Given the description of an element on the screen output the (x, y) to click on. 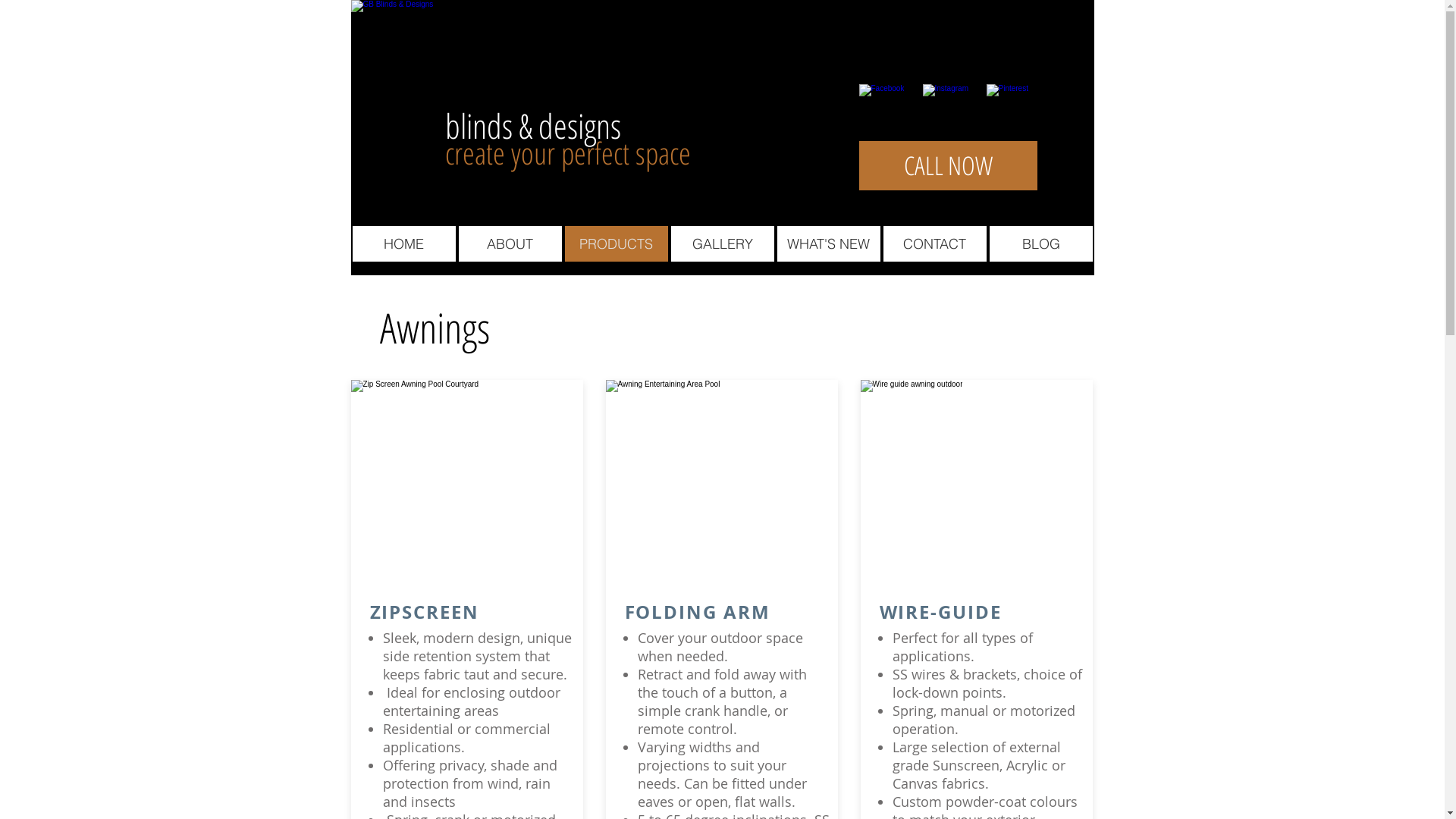
BLOG Element type: text (1040, 243)
Folding Arm Awning Element type: hover (750, 485)
HOME Element type: text (403, 243)
GALLERY Element type: text (721, 243)
WHAT'S NEW Element type: text (827, 243)
Wire-guide Awning Element type: hover (1005, 485)
Zip Screen Modern Awning Element type: hover (495, 485)
CALL NOW Element type: text (947, 165)
PRODUCTS Element type: text (615, 243)
ABOUT Element type: text (509, 243)
CONTACT Element type: text (933, 243)
